Given the description of an element on the screen output the (x, y) to click on. 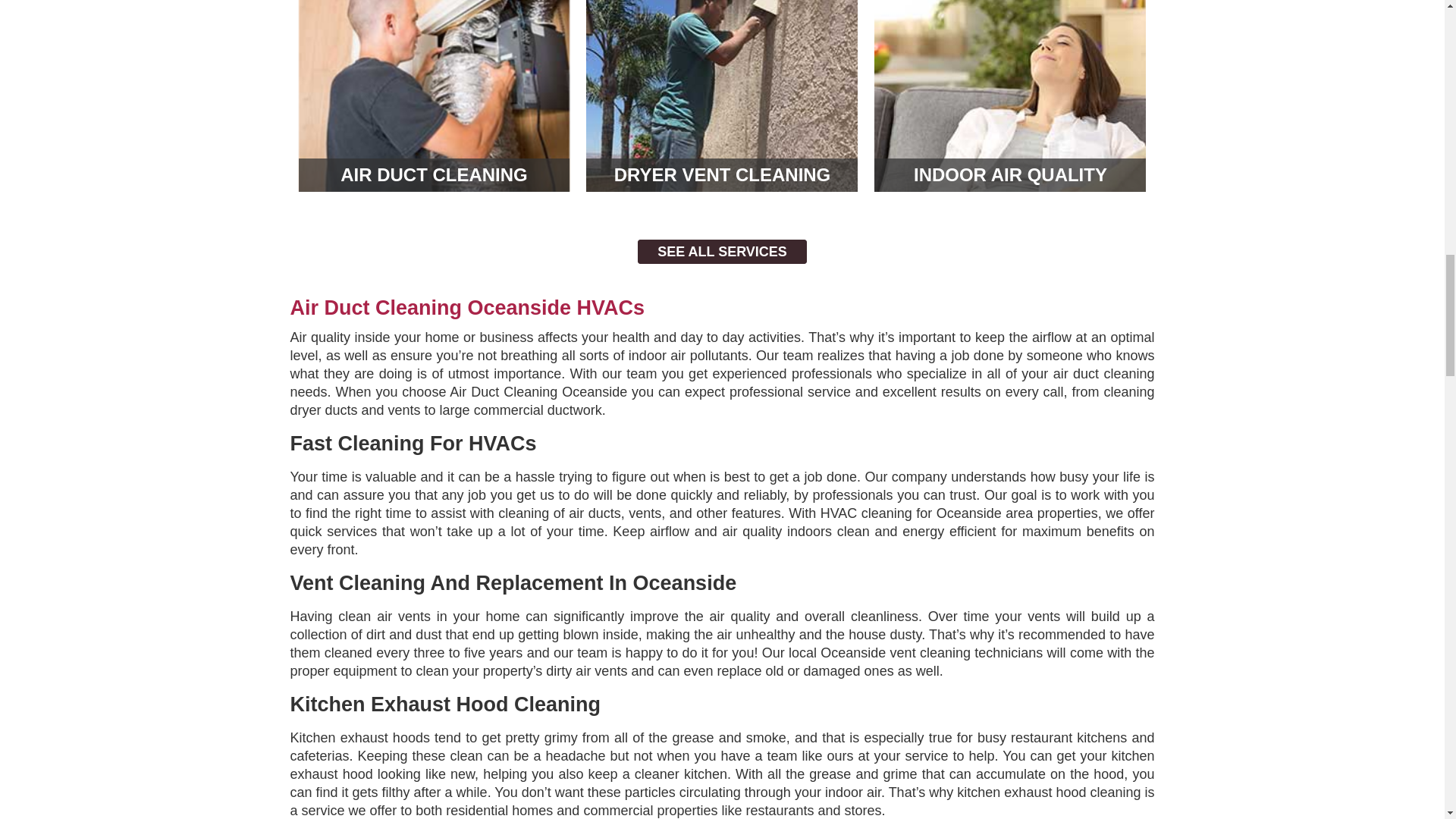
SEE ALL SERVICES (721, 251)
